Given the description of an element on the screen output the (x, y) to click on. 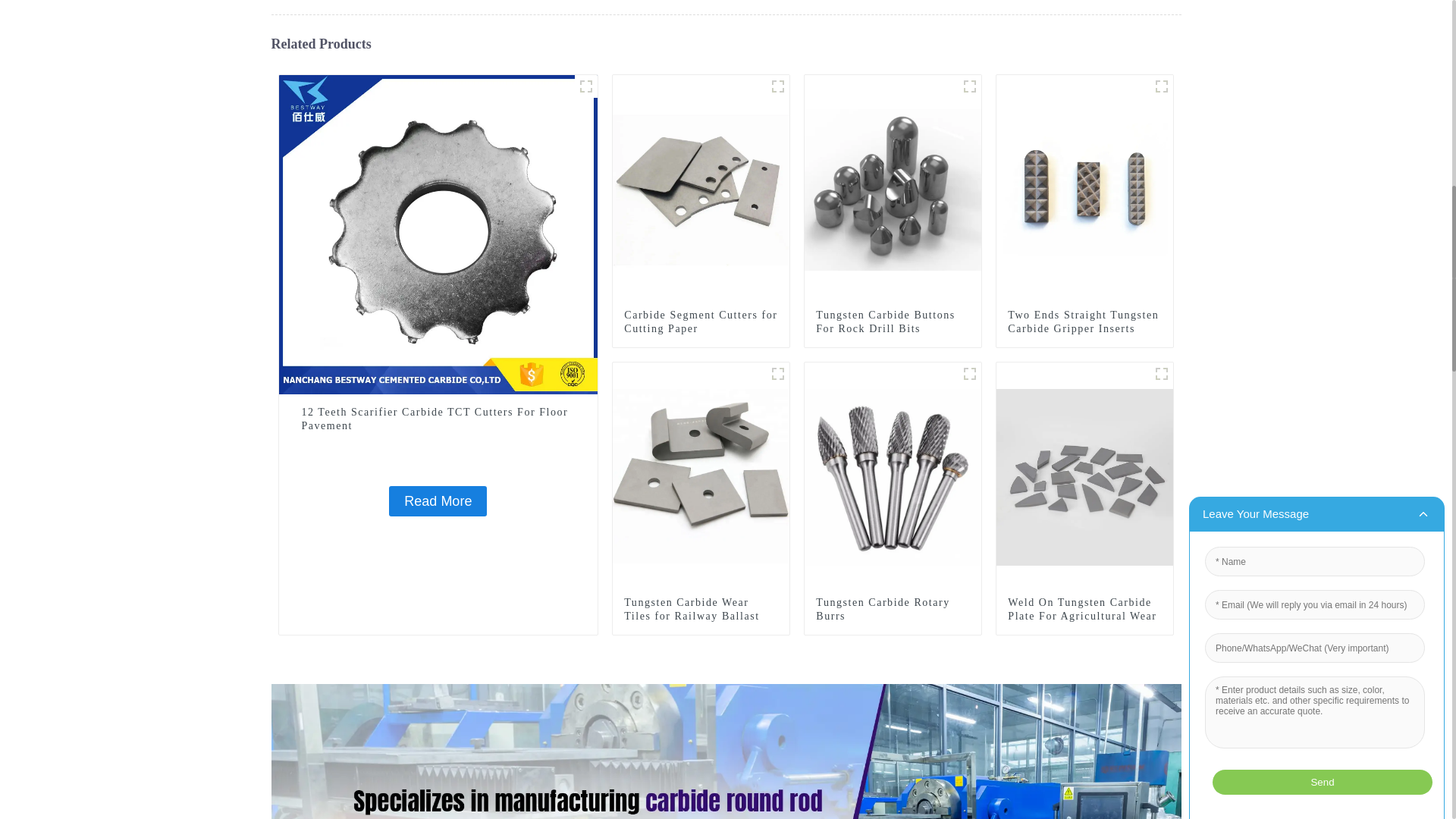
Tungsten Carbide Buttons For Rock Drill Bits (893, 188)
Tungsten Carbide Buttons For Rock Drill Bits (892, 321)
carbide gripper inserts (1161, 86)
12 Teeth Scarifier Carbide TCT Cutters For Floor Pavement (437, 501)
Two Ends Straight Tungsten Carbide Gripper Inserts (1084, 321)
carbide cutter (778, 86)
Tungsten Carbide Rotary Burrs (892, 609)
carbide buttons (969, 86)
Carbide Segment Cutters for Cutting Paper (700, 188)
Carbide Segment Cutters for Cutting Paper (700, 321)
Two Ends Straight Tungsten Carbide Gripper Inserts (1084, 188)
12 Teeth Scarifier Carbide TCT Cutters For Floor Pavement (438, 233)
carbide wear tiles (778, 373)
Tungsten Carbide Rotary Burrs (893, 476)
